Given the description of an element on the screen output the (x, y) to click on. 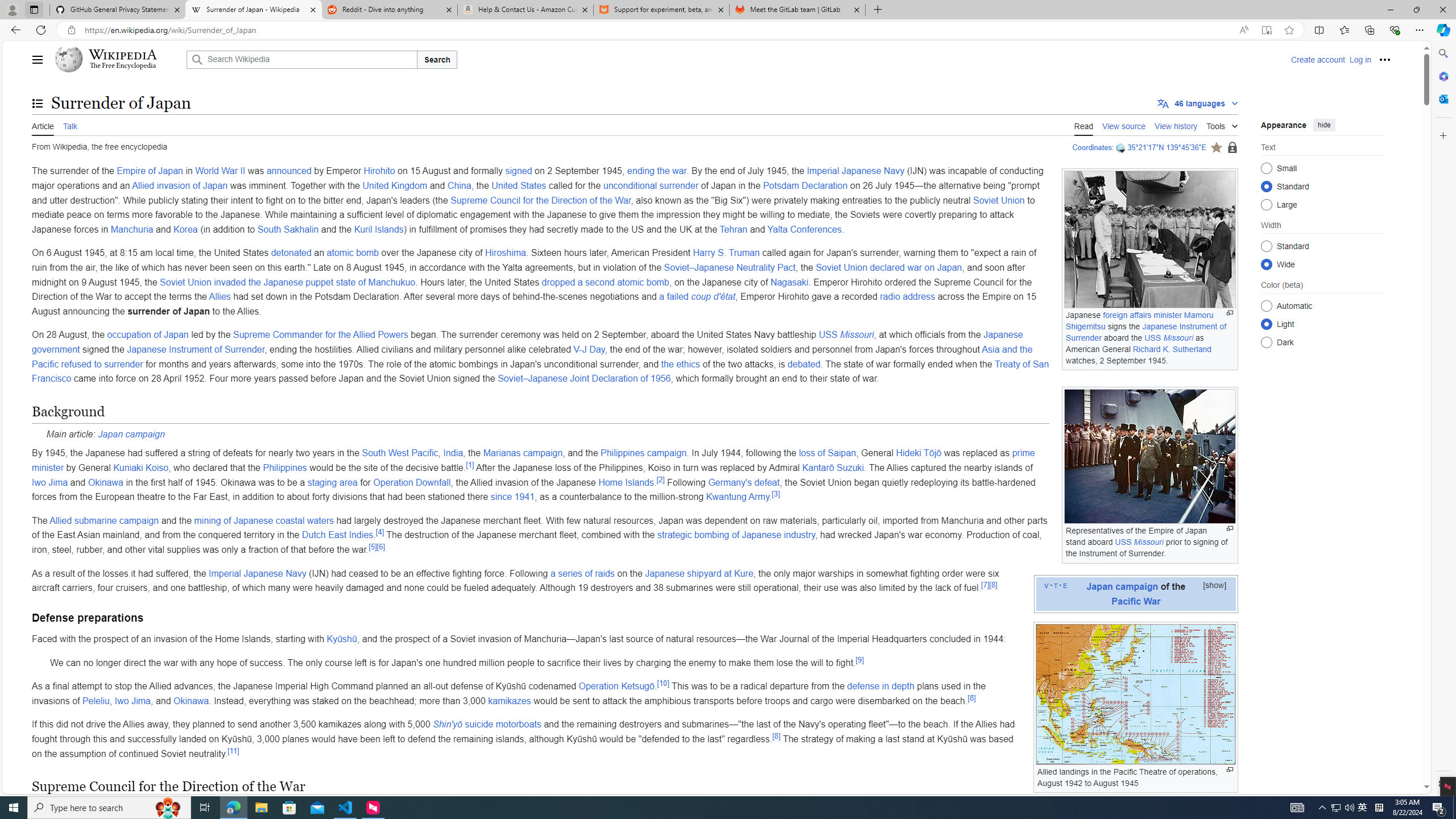
Toggle the table of contents (37, 103)
Mamoru Shigemitsu (1139, 320)
The Free Encyclopedia (121, 65)
Korea (185, 229)
Kwantung Army (738, 497)
Dutch East Indies (337, 534)
Manchuria (131, 229)
Marianas campaign (523, 452)
Small (1266, 167)
Show location on an interactive map (1121, 147)
Soviet Union (998, 199)
